Given the description of an element on the screen output the (x, y) to click on. 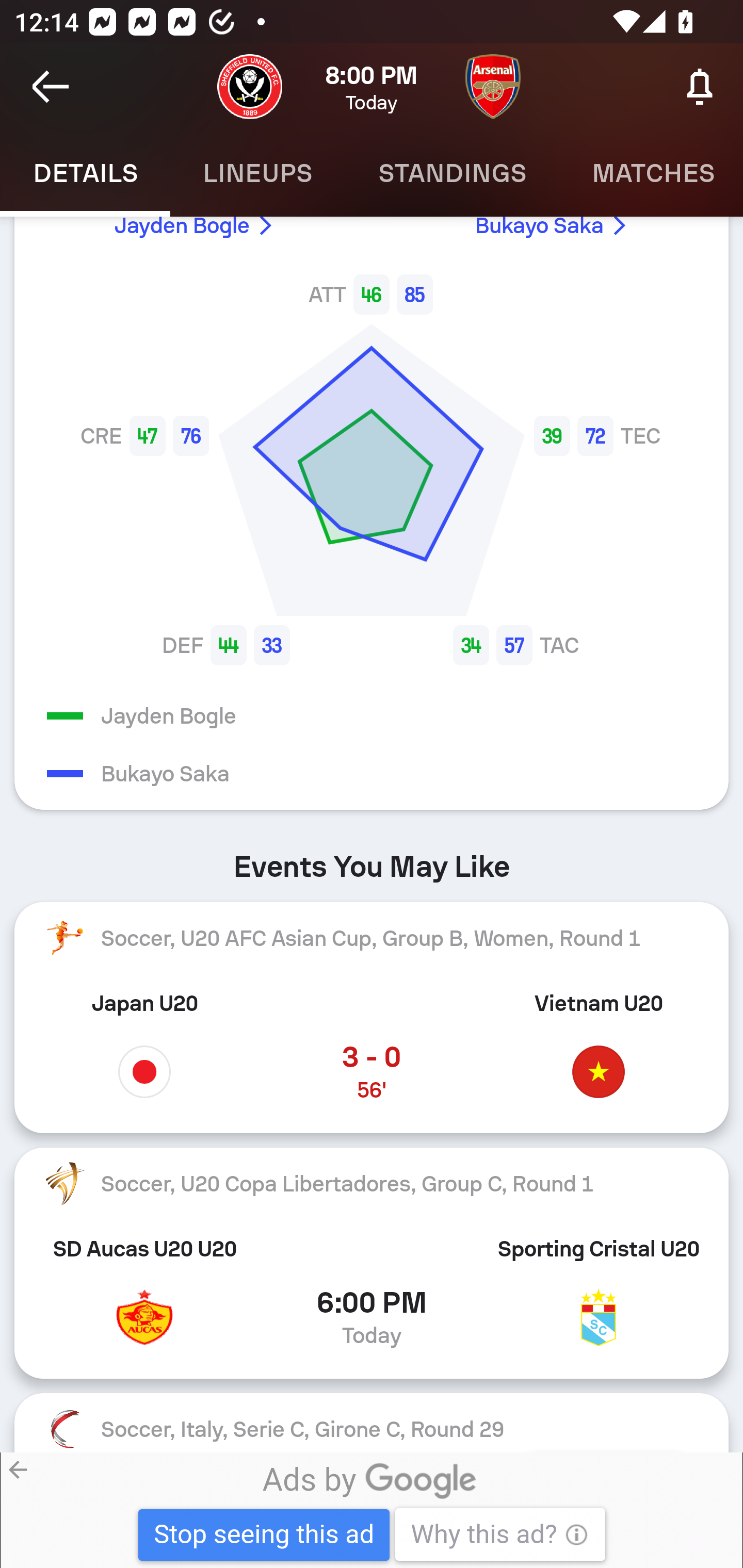
Navigate up (50, 86)
Lineups LINEUPS (257, 173)
Standings STANDINGS (451, 173)
Matches MATCHES (650, 173)
Events You May Like (371, 859)
Soccer, U20 AFC Asian Cup, Group B, Women, Round 1 (371, 937)
Soccer, U20 Copa Libertadores, Group C, Round 1 (371, 1183)
Soccer, Italy, Serie C, Girone C, Round 29 (371, 1421)
